Given the description of an element on the screen output the (x, y) to click on. 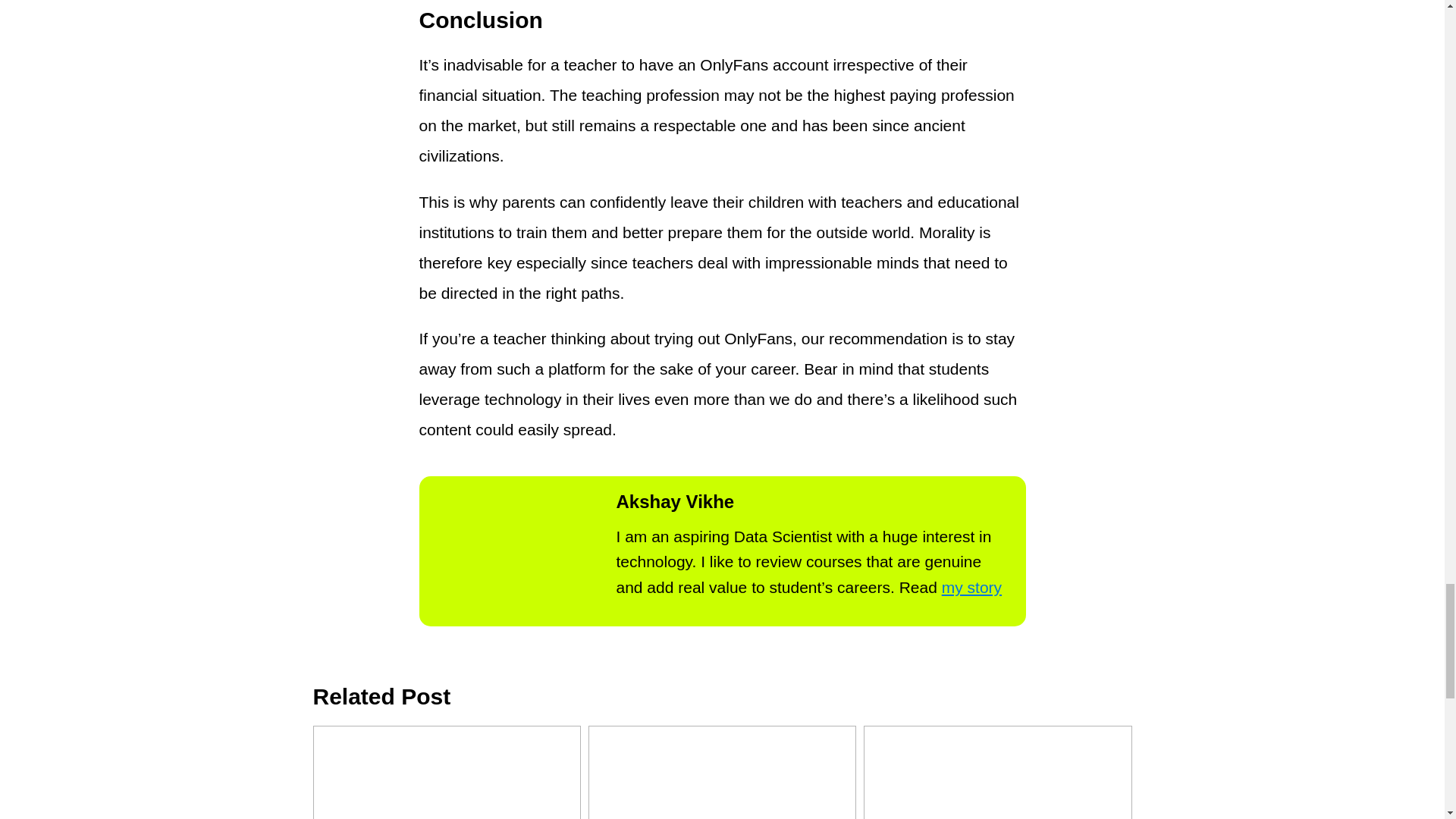
my story (971, 587)
